Given the description of an element on the screen output the (x, y) to click on. 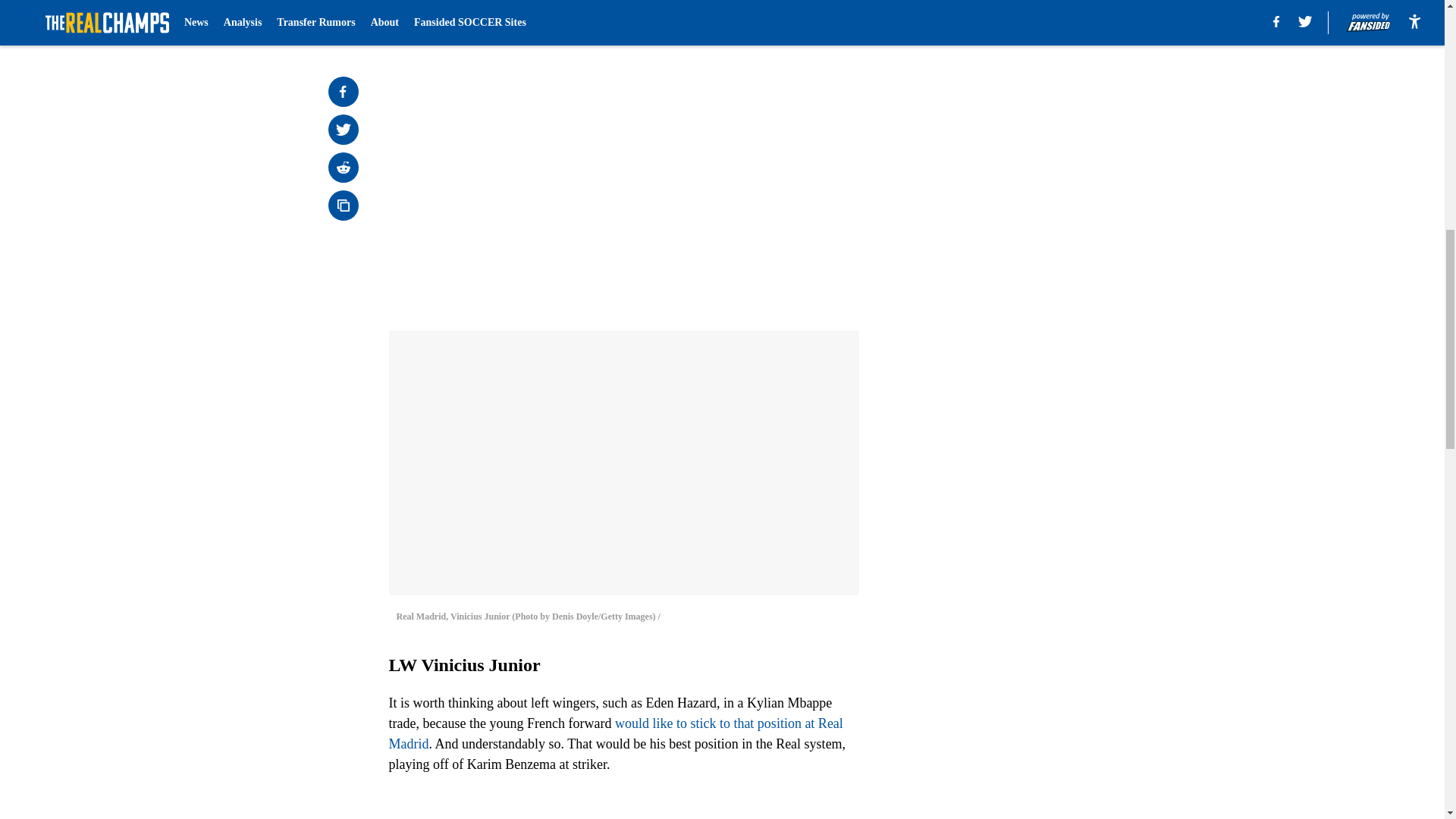
Prev (433, 20)
Next (813, 20)
would like to stick to that position at Real Madrid (615, 733)
